Given the description of an element on the screen output the (x, y) to click on. 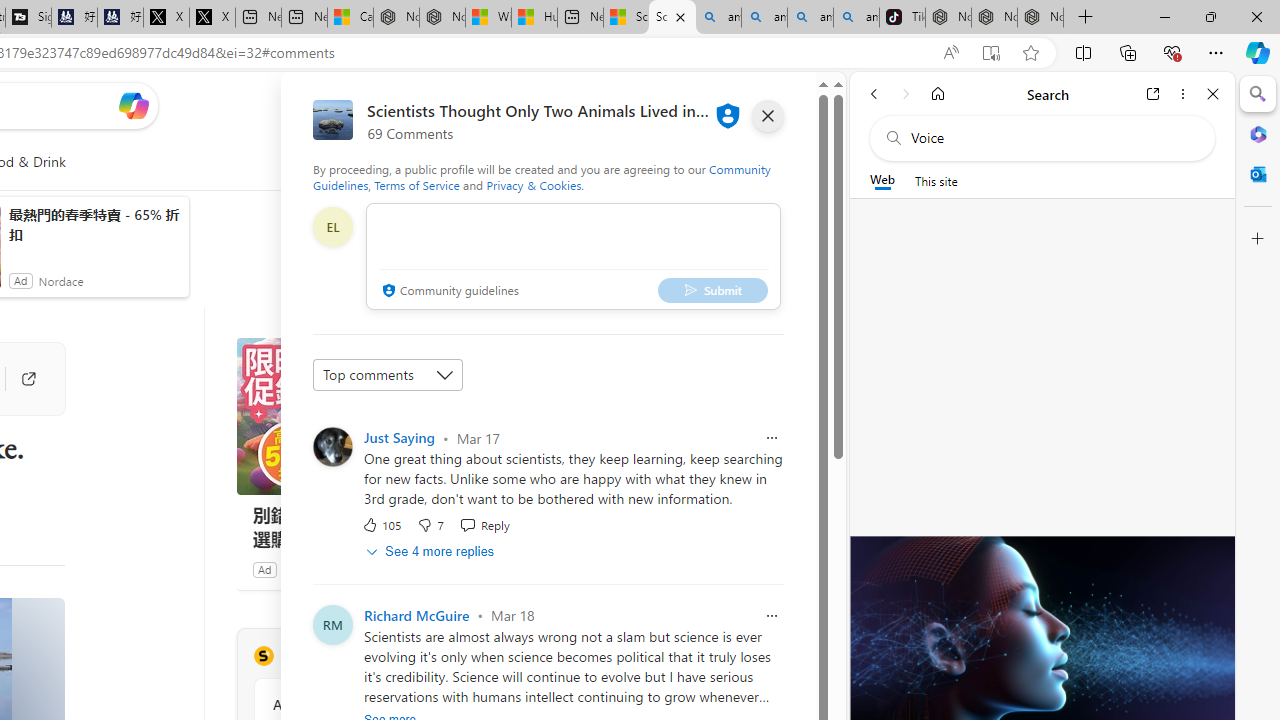
105 Like (381, 524)
Web scope (882, 180)
Close tab (680, 16)
Dislike (430, 524)
ScienceAlert (263, 655)
Forward (906, 93)
Nordace - Best Sellers (948, 17)
Submit (712, 290)
To get missing image descriptions, open the context menu. (449, 162)
Just Saying (399, 437)
Copilot (Ctrl+Shift+.) (1258, 52)
amazon - Search Images (856, 17)
